Given the description of an element on the screen output the (x, y) to click on. 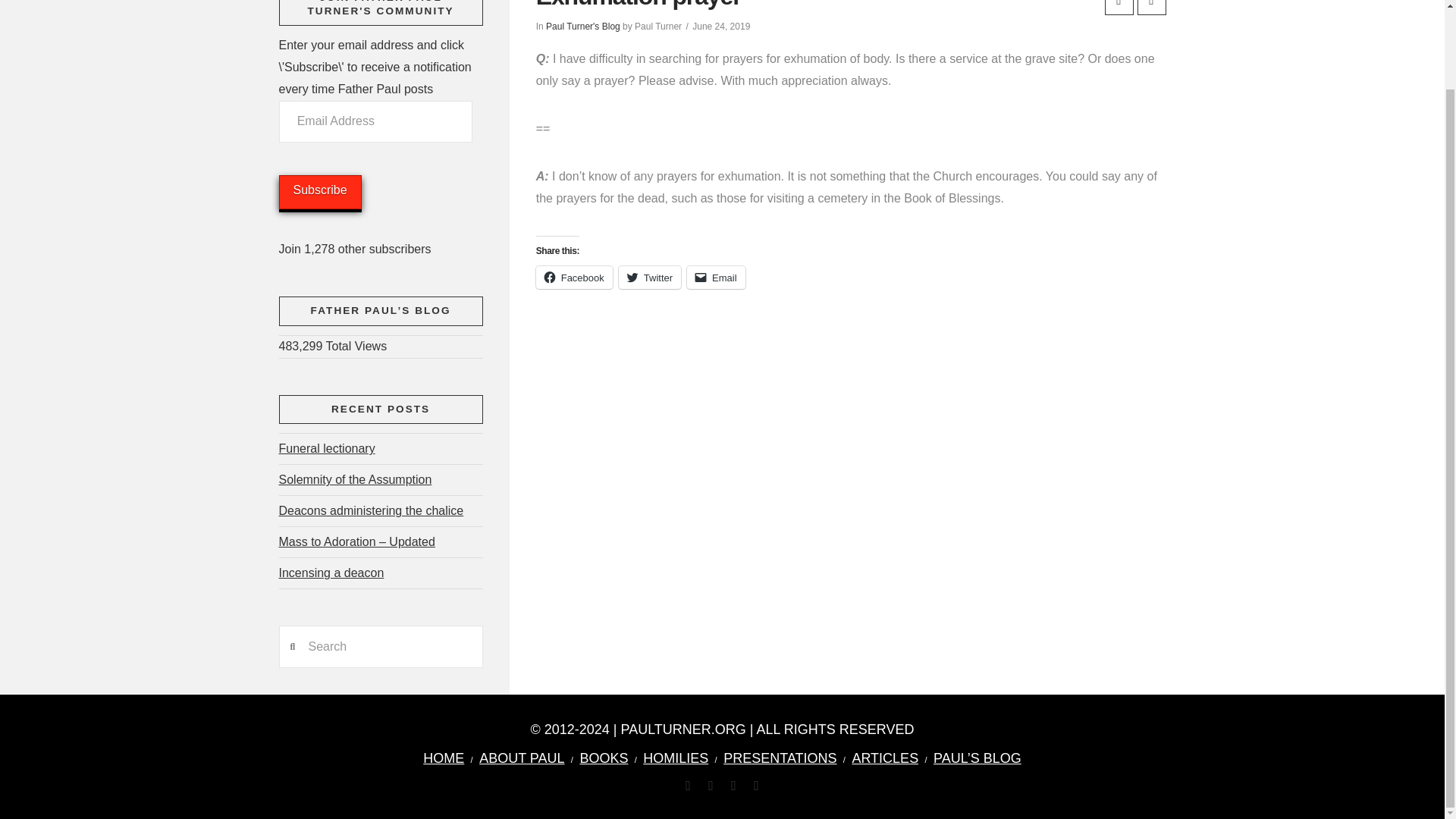
Instagram (756, 785)
Facebook (687, 785)
Click to email a link to a friend (716, 277)
Click to share on Facebook (573, 277)
YouTube (733, 785)
LinkedIn (710, 785)
Click to share on Twitter (649, 277)
Paul Turner Books (603, 758)
